Given the description of an element on the screen output the (x, y) to click on. 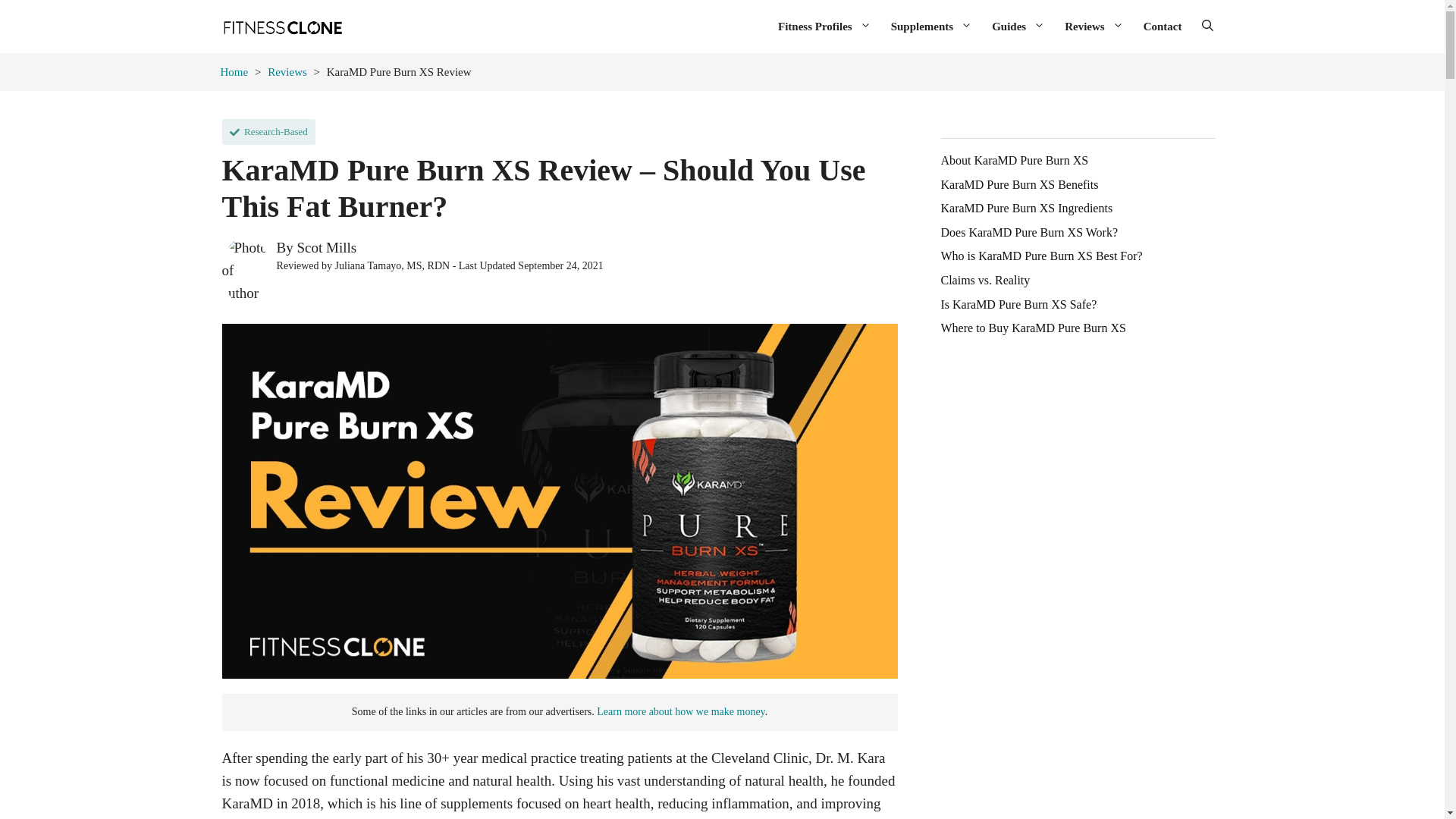
Fitness Profiles (824, 25)
Guides (1017, 25)
Is KaraMD Pure Burn XS Safe? (1018, 304)
Claims vs. Reality (984, 280)
About KaraMD Pure Burn XS (1013, 160)
KaraMD Pure Burn XS Ingredients (1026, 208)
KaraMD Pure Burn XS Benefits (1018, 184)
Reviews (1094, 25)
Supplements (931, 25)
Does KaraMD Pure Burn XS Work? (1029, 232)
